Given the description of an element on the screen output the (x, y) to click on. 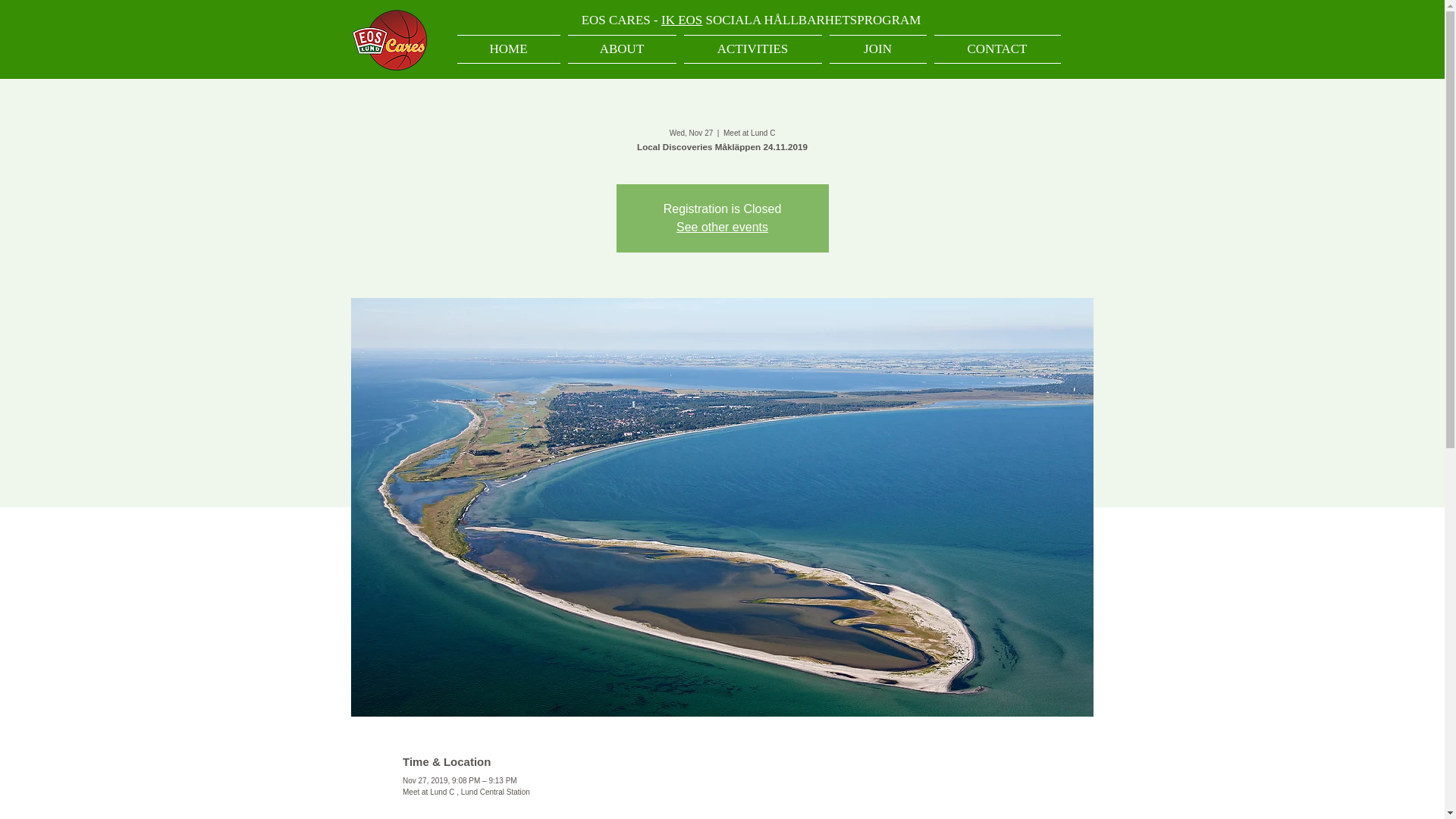
See other events (722, 226)
JOIN (877, 49)
ACTIVITIES (752, 49)
HOME (510, 49)
IK EOS (681, 20)
CONTACT (994, 49)
ny logga.png (389, 39)
